Given the description of an element on the screen output the (x, y) to click on. 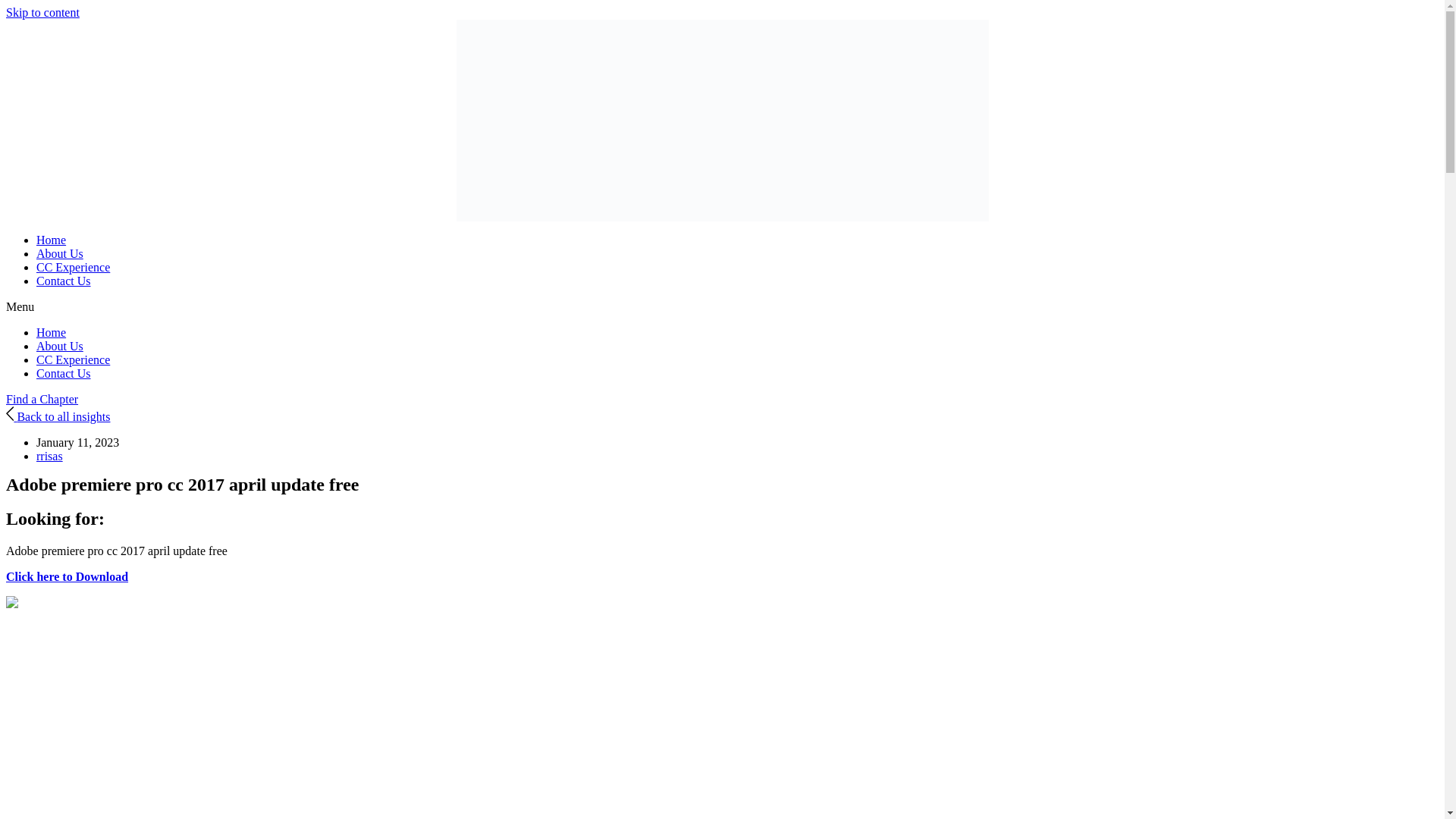
Skip to content (42, 11)
CC Experience (73, 359)
CC Experience (73, 267)
Find a Chapter (41, 399)
About Us (59, 253)
Home (50, 239)
Click here to Download (66, 576)
Contact Us (63, 280)
About Us (59, 345)
Back to all insights (57, 416)
